Given the description of an element on the screen output the (x, y) to click on. 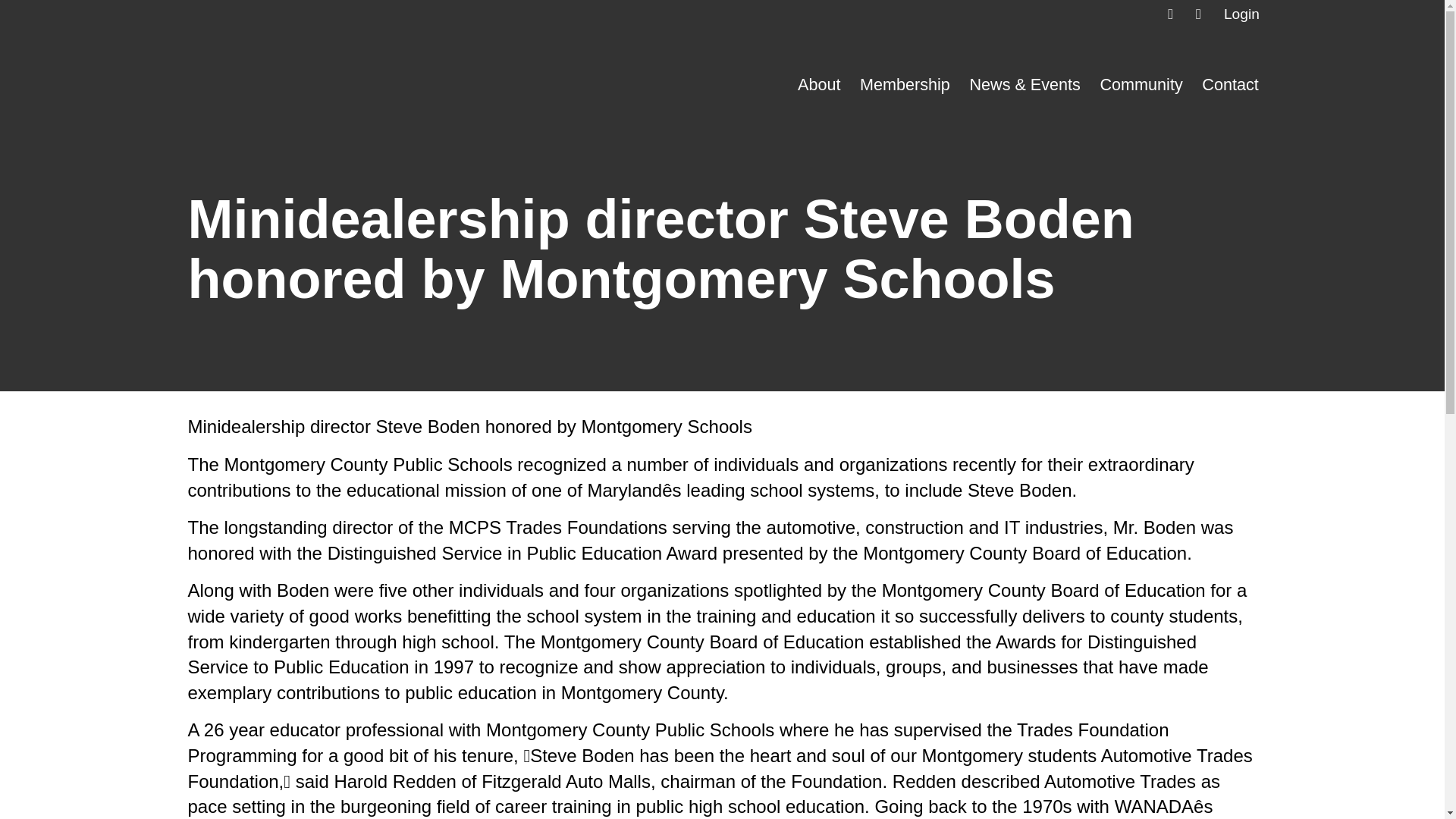
About (818, 84)
Login (1241, 14)
Membership (904, 84)
